Given the description of an element on the screen output the (x, y) to click on. 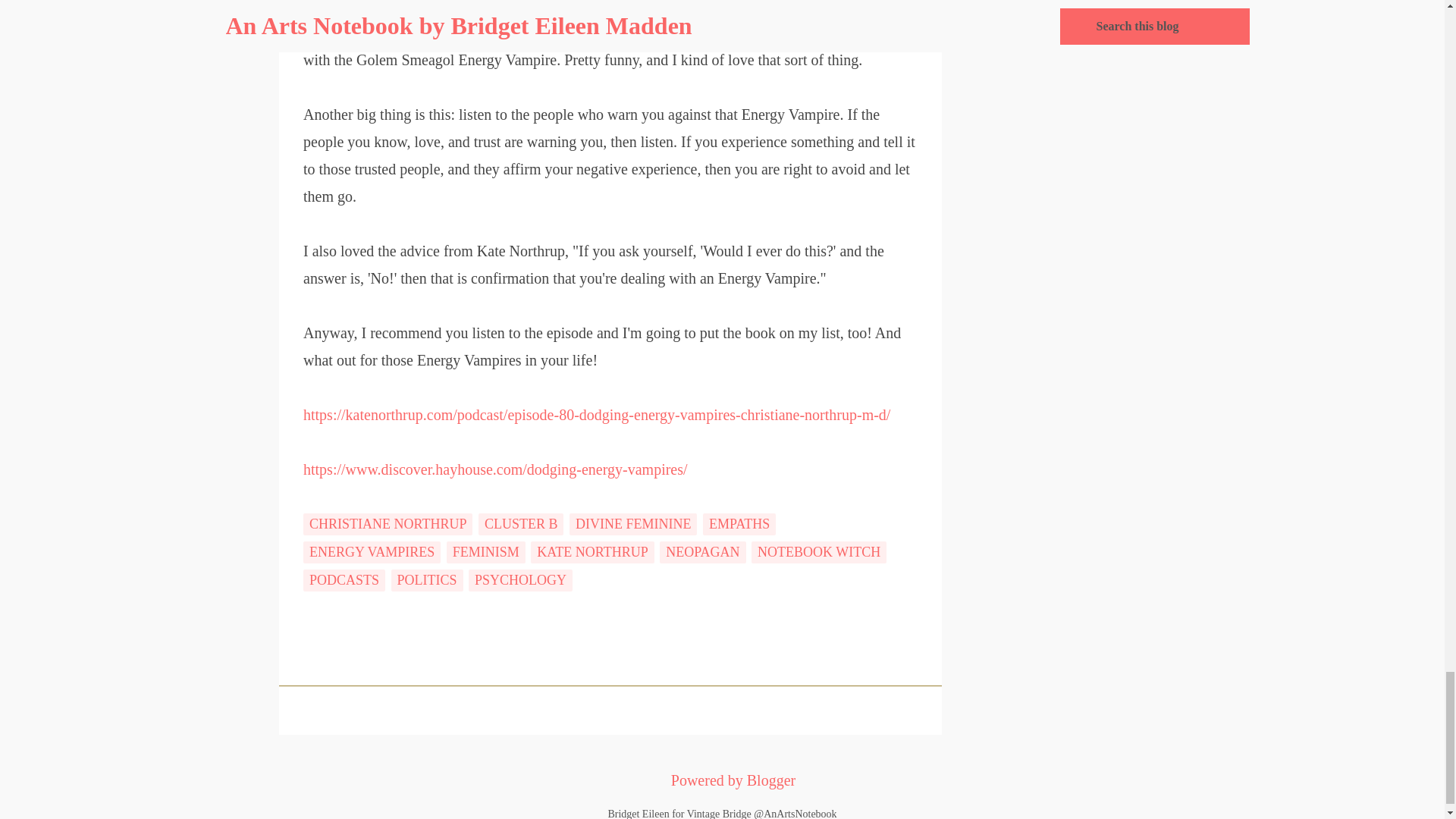
KATE NORTHRUP (592, 552)
DIVINE FEMININE (633, 524)
NEOPAGAN (702, 552)
ENERGY VAMPIRES (371, 552)
EMPATHS (739, 524)
PODCASTS (343, 580)
PSYCHOLOGY (520, 580)
CLUSTER B (521, 524)
FEMINISM (485, 552)
POLITICS (427, 580)
